Given the description of an element on the screen output the (x, y) to click on. 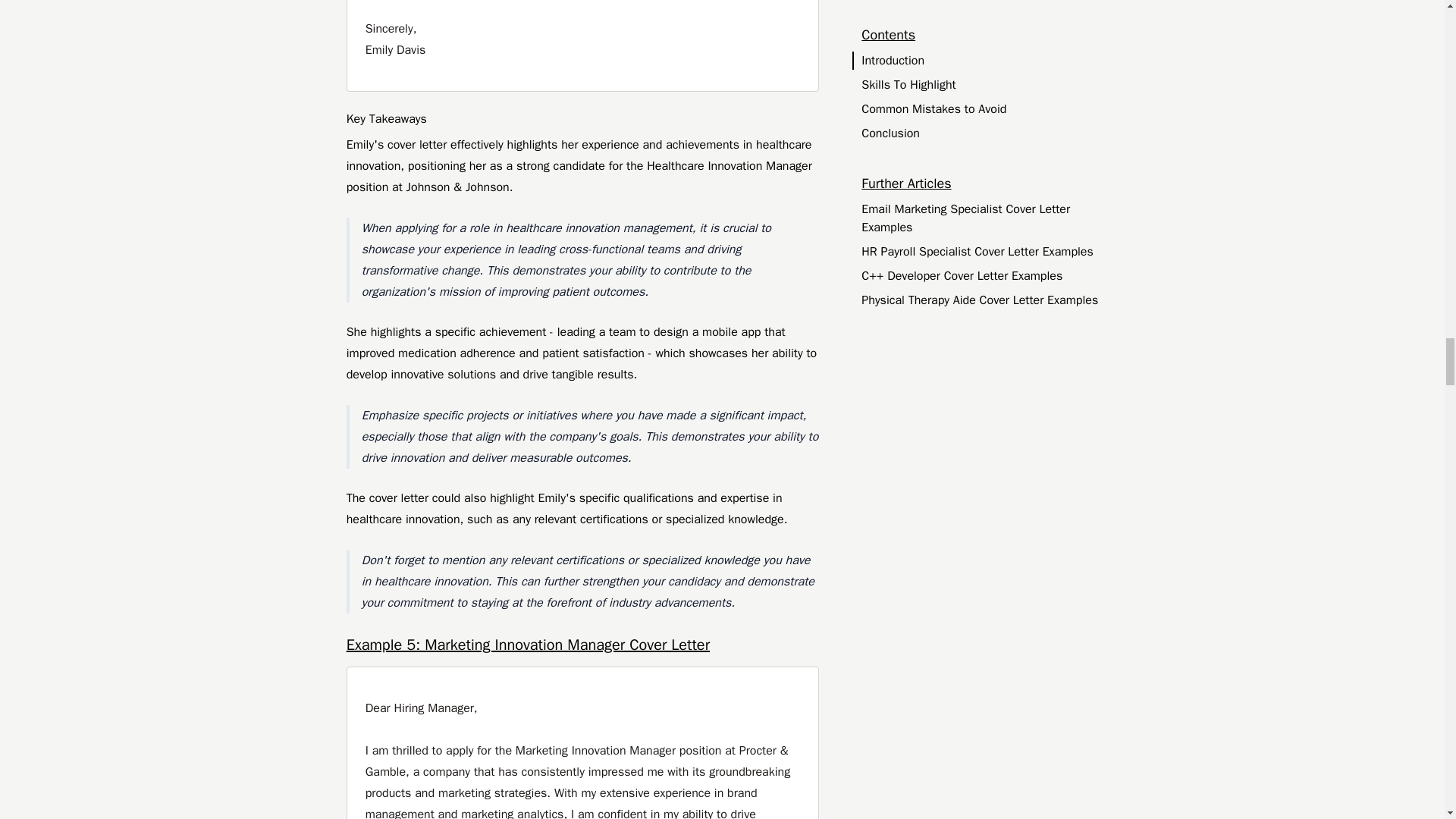
Example 5: Marketing Innovation Manager Cover Letter (582, 645)
